Given the description of an element on the screen output the (x, y) to click on. 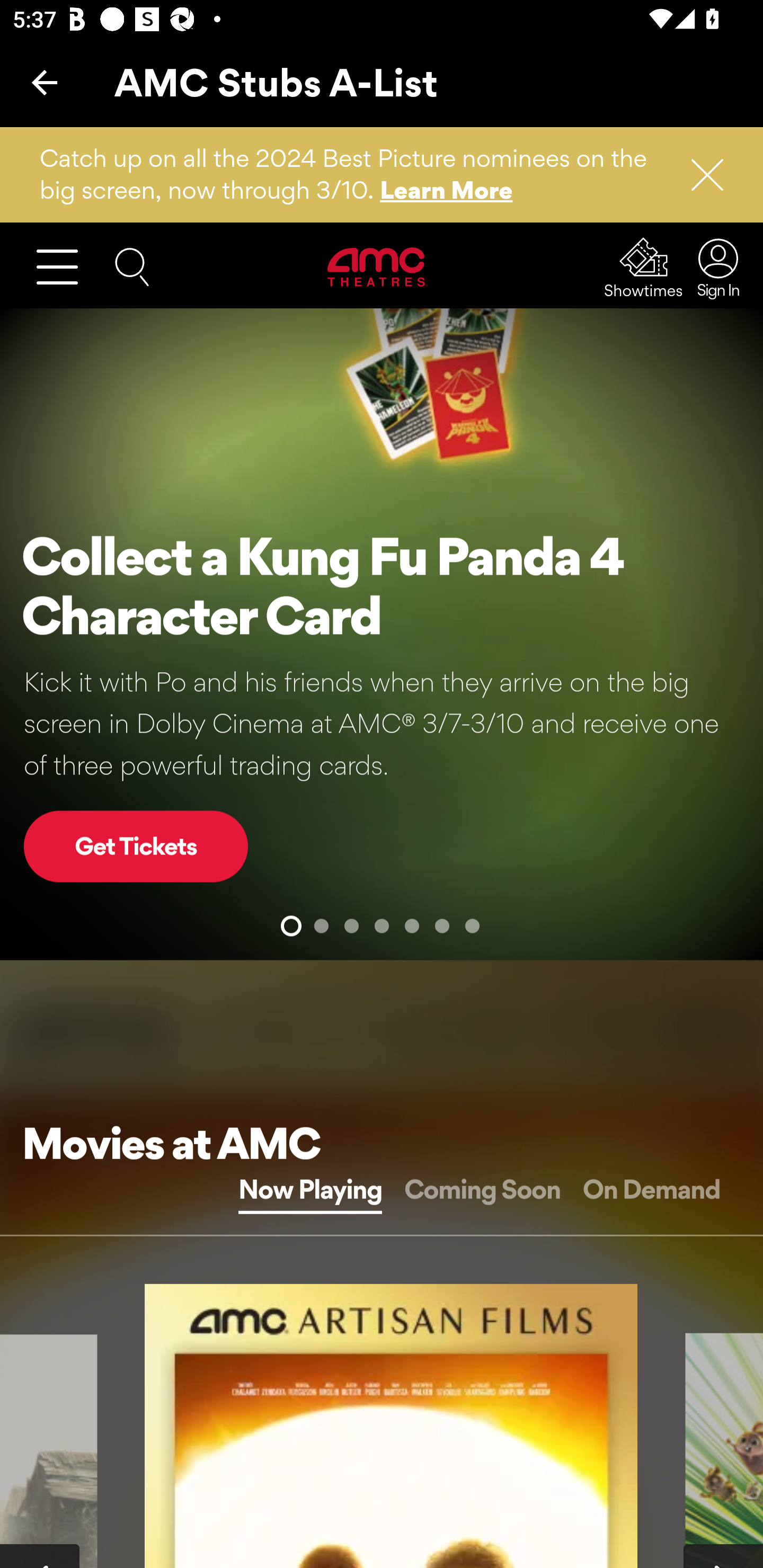
Back (44, 82)
Dismiss Notification (699, 174)
Learn More (446, 189)
Open Menu (64, 266)
Showtimes Showtimes Showtimes (643, 267)
Sign In (717, 267)
Search the AMC website (131, 265)
Visit Home Page AMC Theatres Logo (377, 266)
Get Tickets to Kung Fu Panda 4 Get Tickets (135, 845)
Go to item undefined (291, 925)
Go to item undefined (320, 925)
Go to item undefined (351, 925)
Go to item undefined (381, 925)
Go to item undefined (411, 925)
Go to item undefined (442, 925)
Go to item undefined (471, 925)
Now Playing currently selected (309, 1189)
Coming Soon (482, 1189)
On Demand (650, 1189)
movie poster for Dune: Part Two (391, 1425)
